Given the description of an element on the screen output the (x, y) to click on. 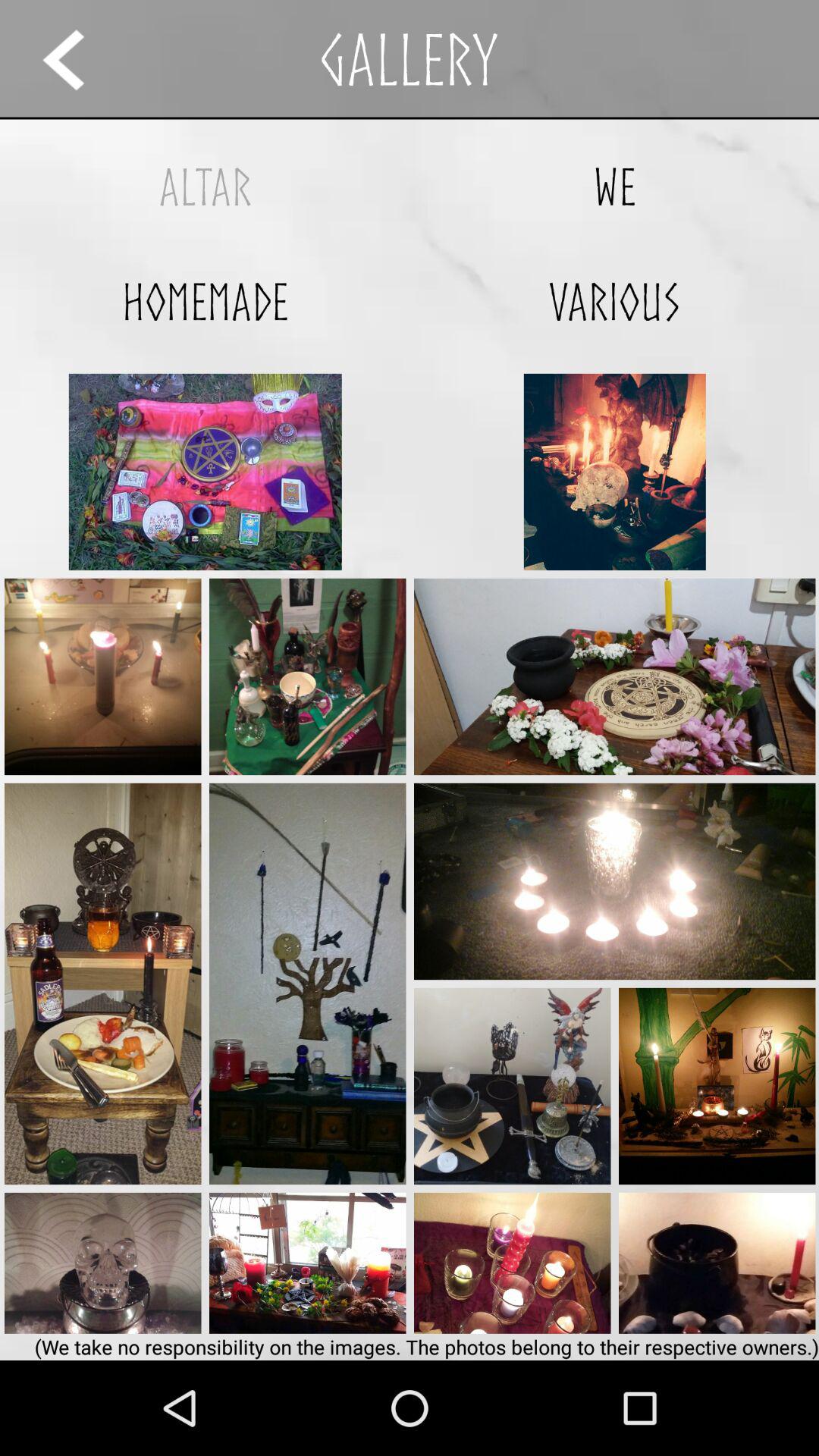
press homemade icon (204, 301)
